Given the description of an element on the screen output the (x, y) to click on. 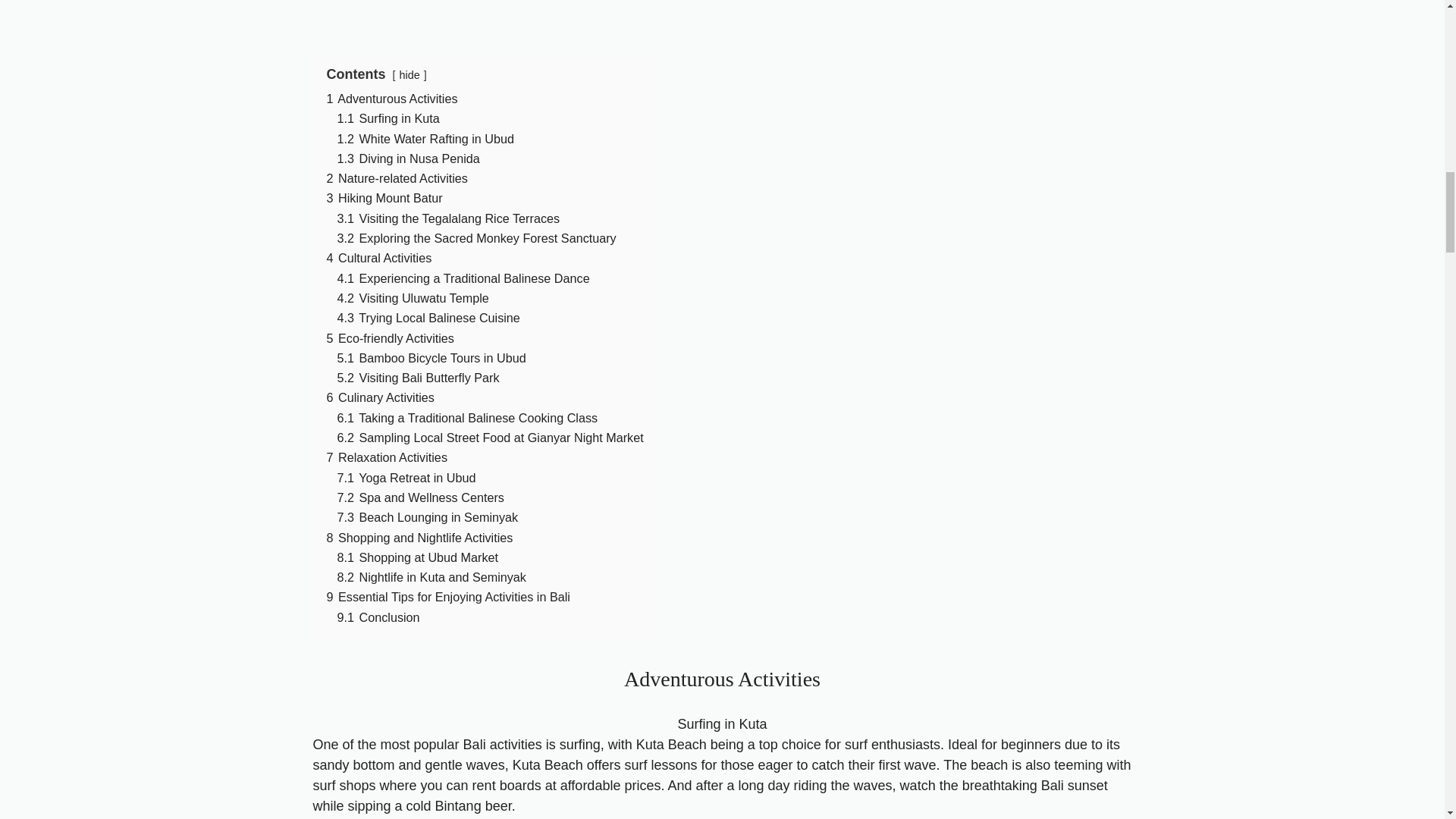
5.1 Bamboo Bicycle Tours in Ubud (430, 357)
7.2 Spa and Wellness Centers (419, 497)
9.1 Conclusion (377, 617)
4.3 Trying Local Balinese Cuisine (427, 317)
6.1 Taking a Traditional Balinese Cooking Class (466, 418)
3.2 Exploring the Sacred Monkey Forest Sanctuary (475, 237)
4.2 Visiting Uluwatu Temple (411, 297)
9 Essential Tips for Enjoying Activities in Bali (447, 596)
3 Hiking Mount Batur (384, 197)
1.2 White Water Rafting in Ubud (424, 138)
